Given the description of an element on the screen output the (x, y) to click on. 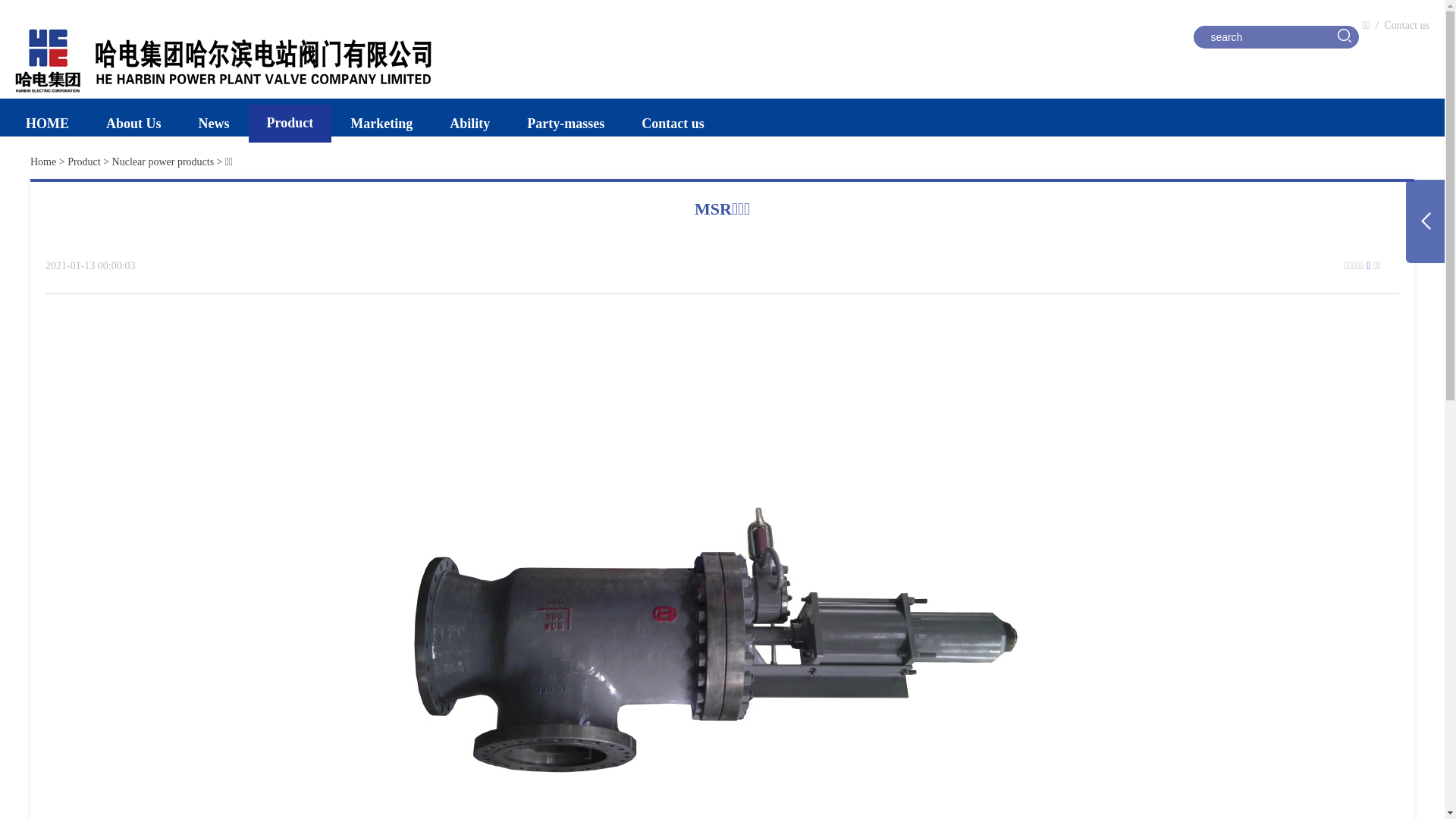
Product Element type: text (83, 161)
HOME Element type: text (47, 123)
Home Element type: text (43, 161)
Contact us Element type: text (1407, 25)
Ability Element type: text (469, 123)
Contact us Element type: text (672, 123)
Marketing Element type: text (381, 123)
News Element type: text (213, 123)
Nuclear power products Element type: text (163, 161)
Product Element type: text (290, 122)
Party-masses Element type: text (565, 123)
About Us Element type: text (133, 123)
